Given the description of an element on the screen output the (x, y) to click on. 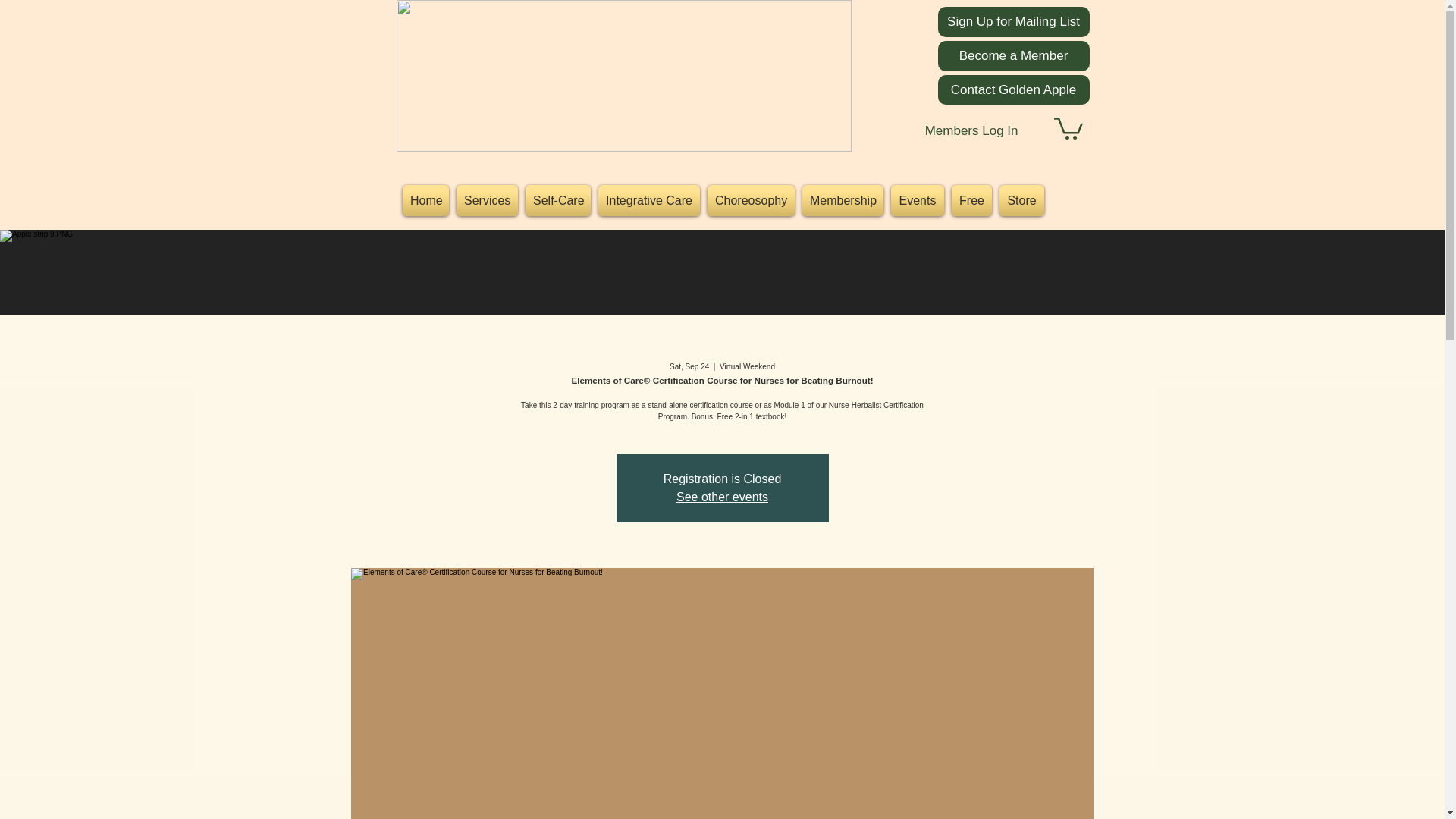
Choreosophy (750, 200)
Become a Member (1013, 55)
Home (425, 200)
Self-Care (557, 200)
Members Log In (971, 130)
Services (486, 200)
Events (916, 200)
Membership (841, 200)
Contact Golden Apple (1013, 89)
Sign Up for Mailing List (1013, 21)
Integrative Care (648, 200)
